Given the description of an element on the screen output the (x, y) to click on. 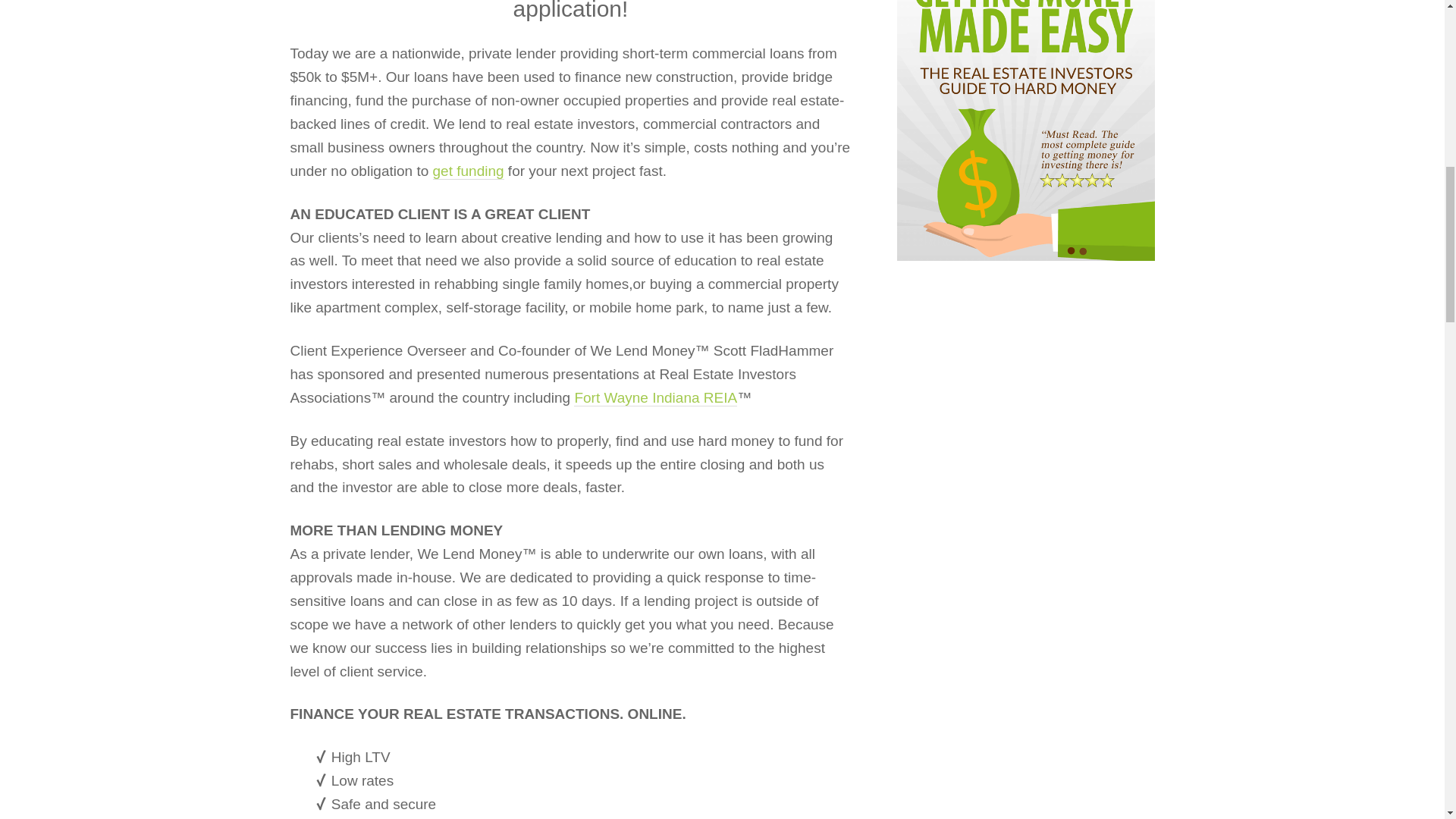
Fort Wayne Indiana REIA (654, 397)
get funding (467, 170)
